Given the description of an element on the screen output the (x, y) to click on. 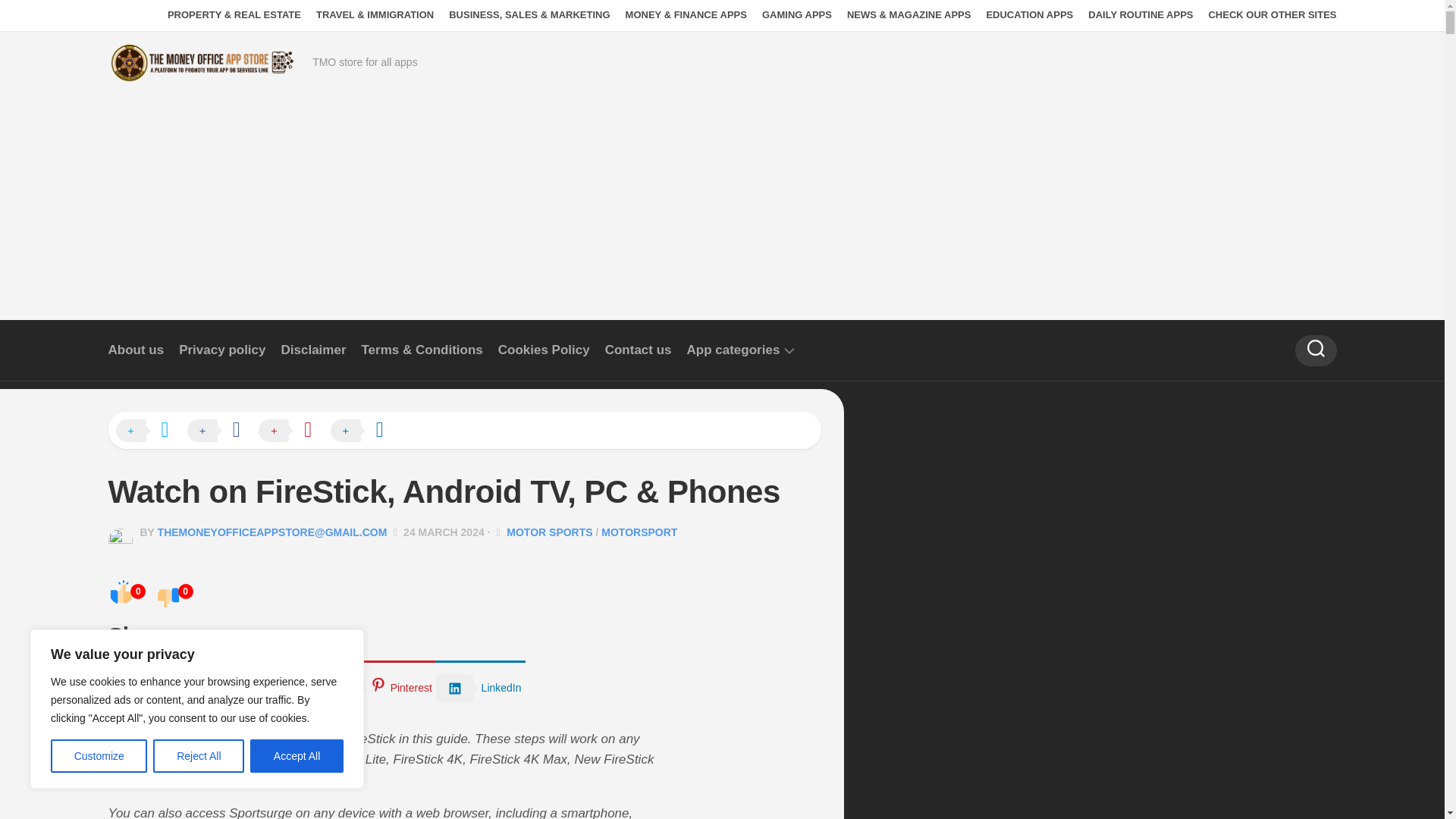
Share on Facebook (221, 431)
Share on X (149, 431)
Disclaimer (313, 350)
DAILY ROUTINE APPS (1139, 14)
EDUCATION APPS (1029, 14)
Accept All (296, 756)
Customize (98, 756)
Cookies Policy (543, 350)
About us (135, 350)
App categories (733, 350)
